Given the description of an element on the screen output the (x, y) to click on. 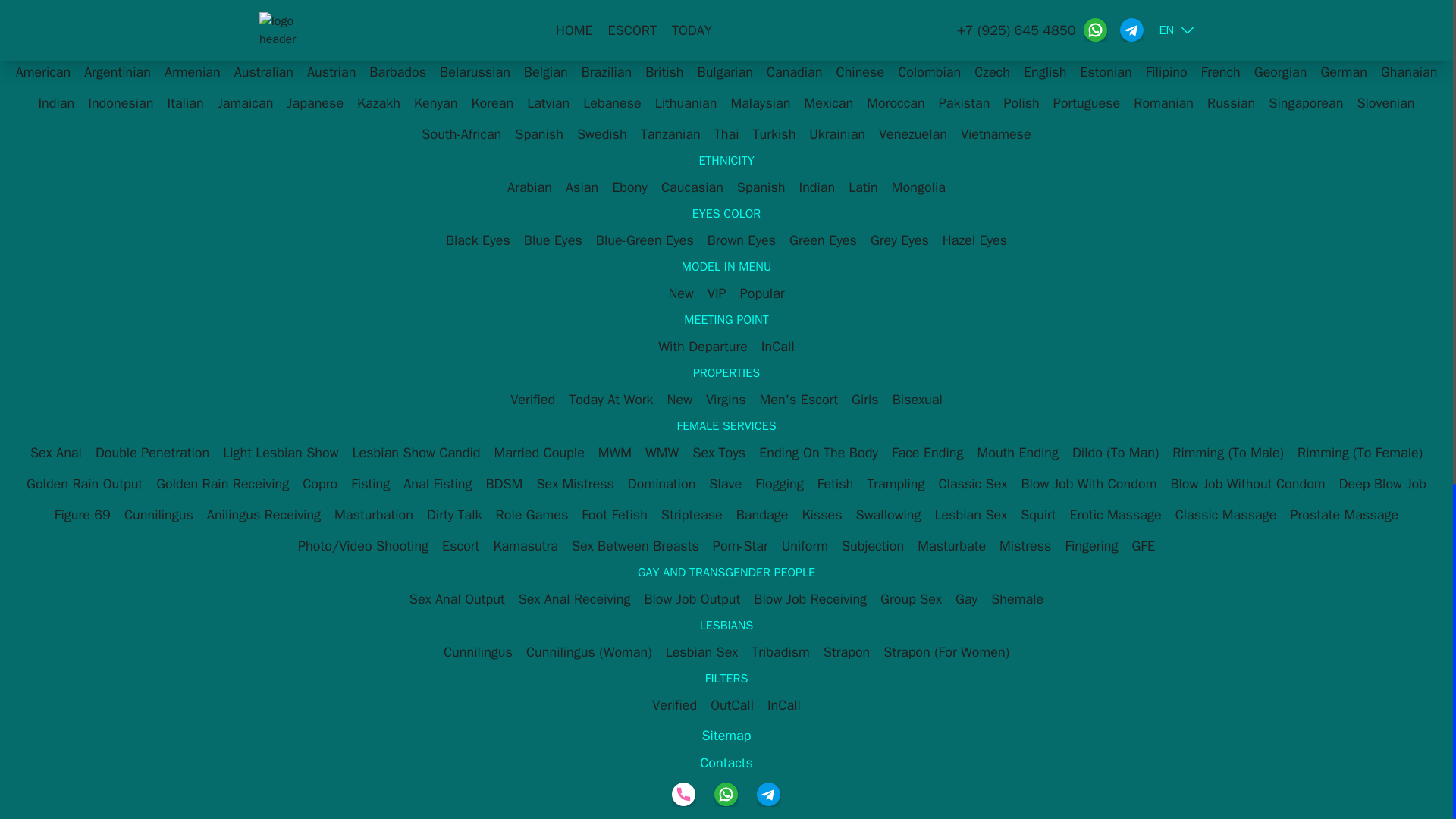
Blonde (739, 18)
Brunette (600, 18)
Sitemap (726, 735)
Brown Hair (672, 18)
